Given the description of an element on the screen output the (x, y) to click on. 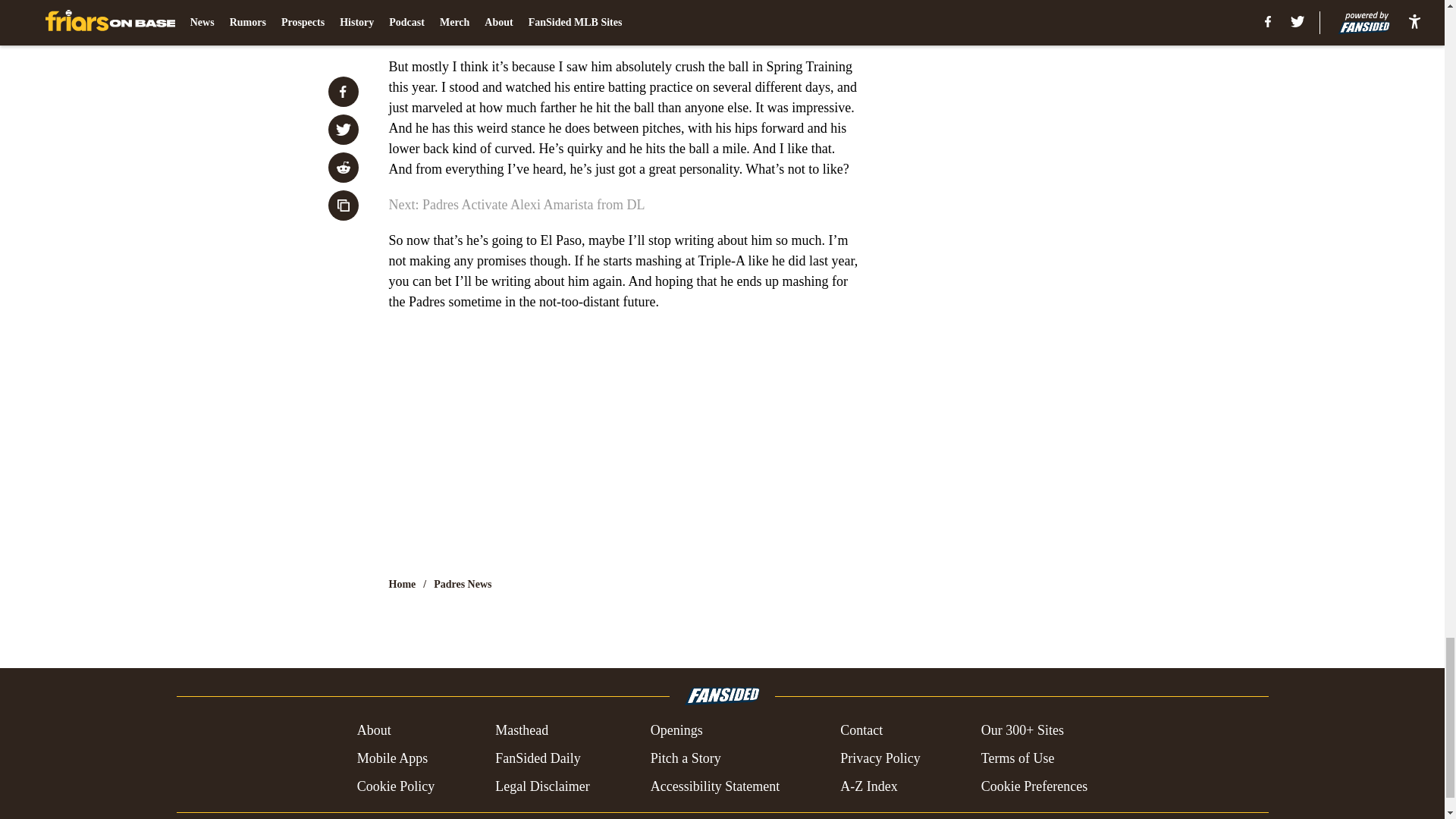
Contact (861, 730)
Home (401, 584)
Next: Padres Activate Alexi Amarista from DL (516, 204)
Padres News (462, 584)
About (373, 730)
Masthead (521, 730)
Openings (676, 730)
